Given the description of an element on the screen output the (x, y) to click on. 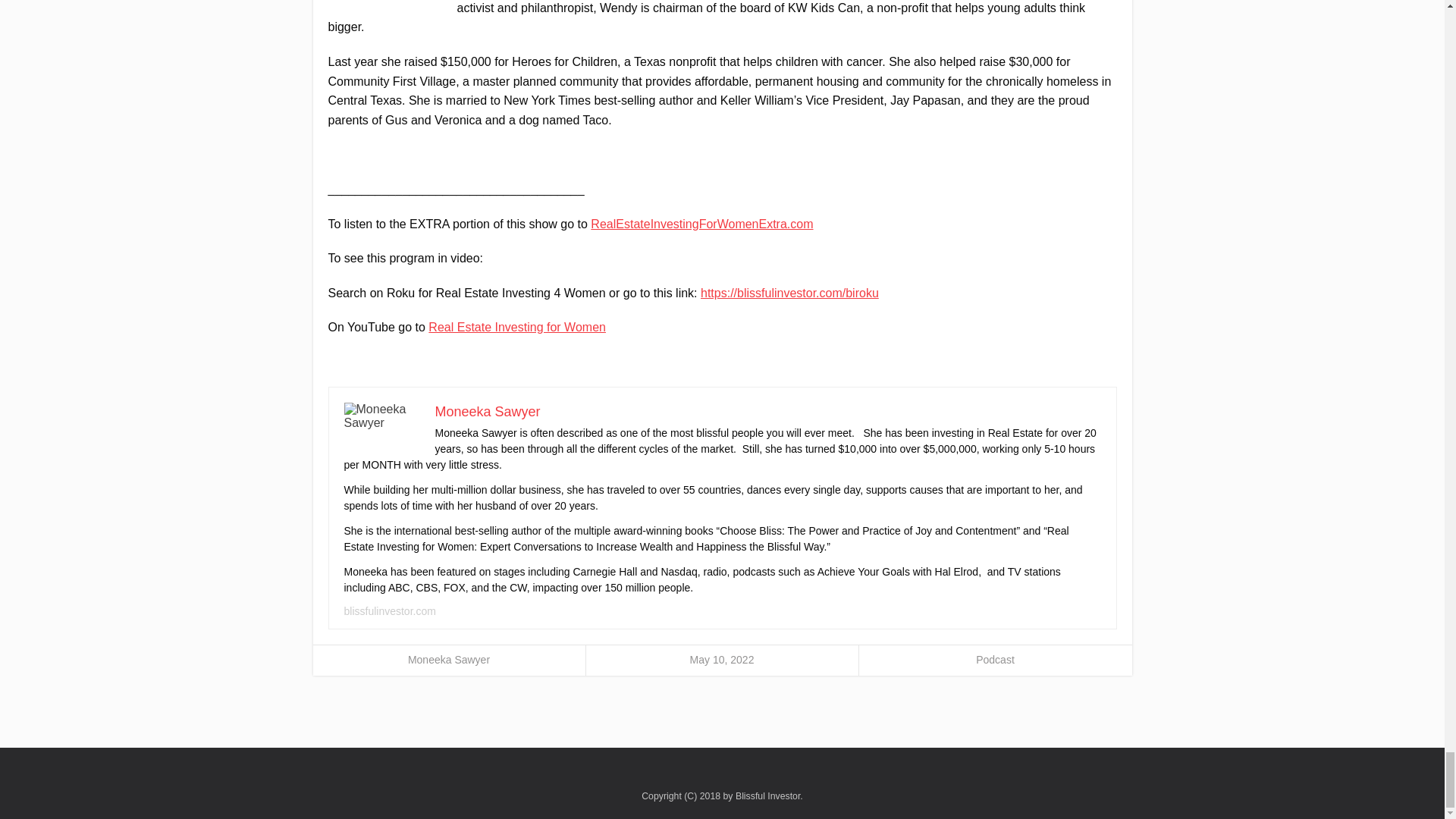
RealEstateInvestingForWomenExtra.com (701, 223)
Moneeka Sawyer (487, 411)
blissfulinvestor.com (389, 611)
Podcast (994, 659)
Real Estate Investing for Women (516, 327)
Moneeka Sawyer (448, 659)
